Given the description of an element on the screen output the (x, y) to click on. 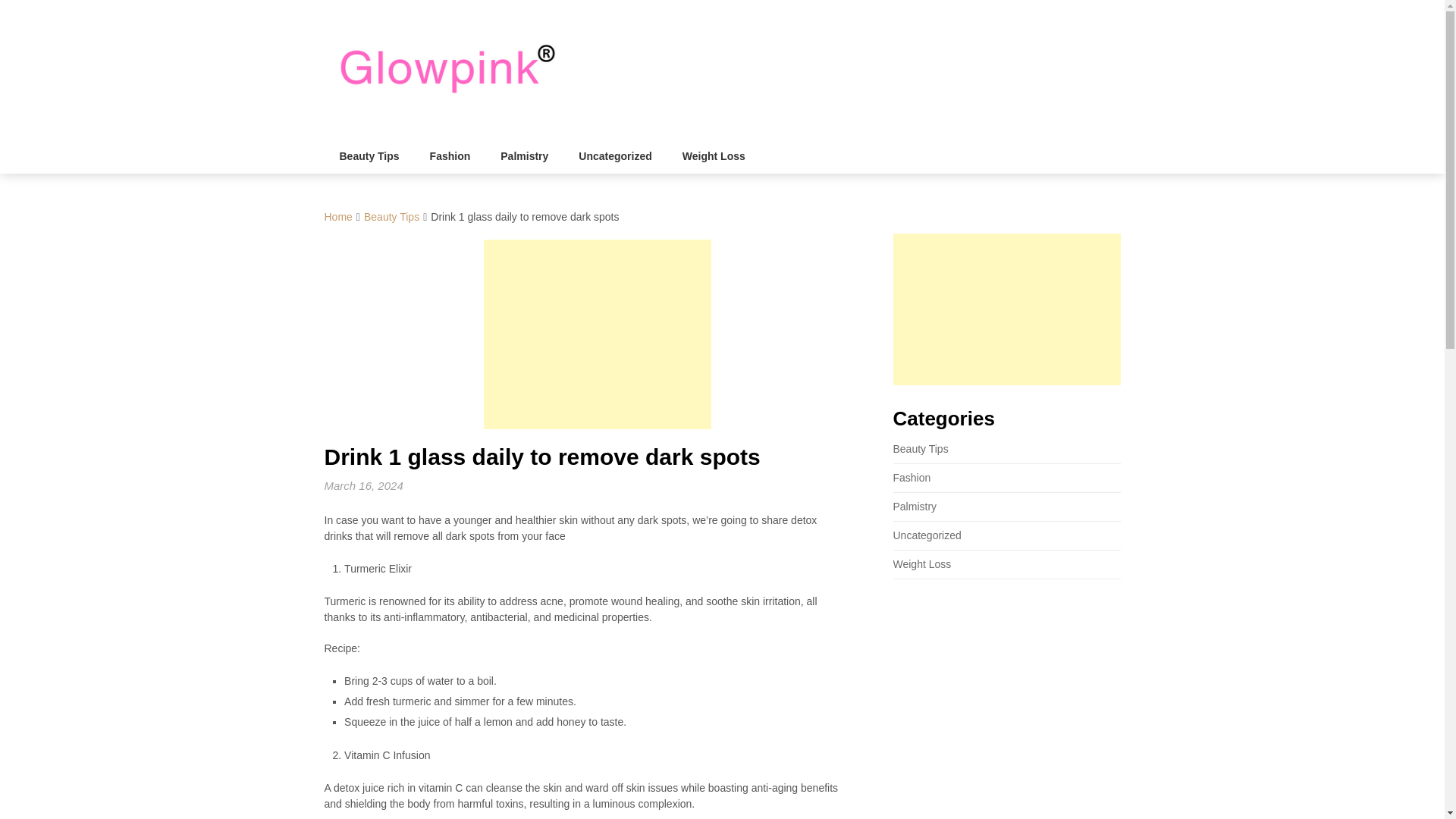
Weight Loss (713, 156)
Uncategorized (614, 156)
Advertisement (1007, 308)
Uncategorized (926, 535)
Palmistry (523, 156)
Home (338, 216)
Advertisement (597, 334)
Weight Loss (922, 563)
Fashion (912, 477)
Beauty Tips (369, 156)
